Given the description of an element on the screen output the (x, y) to click on. 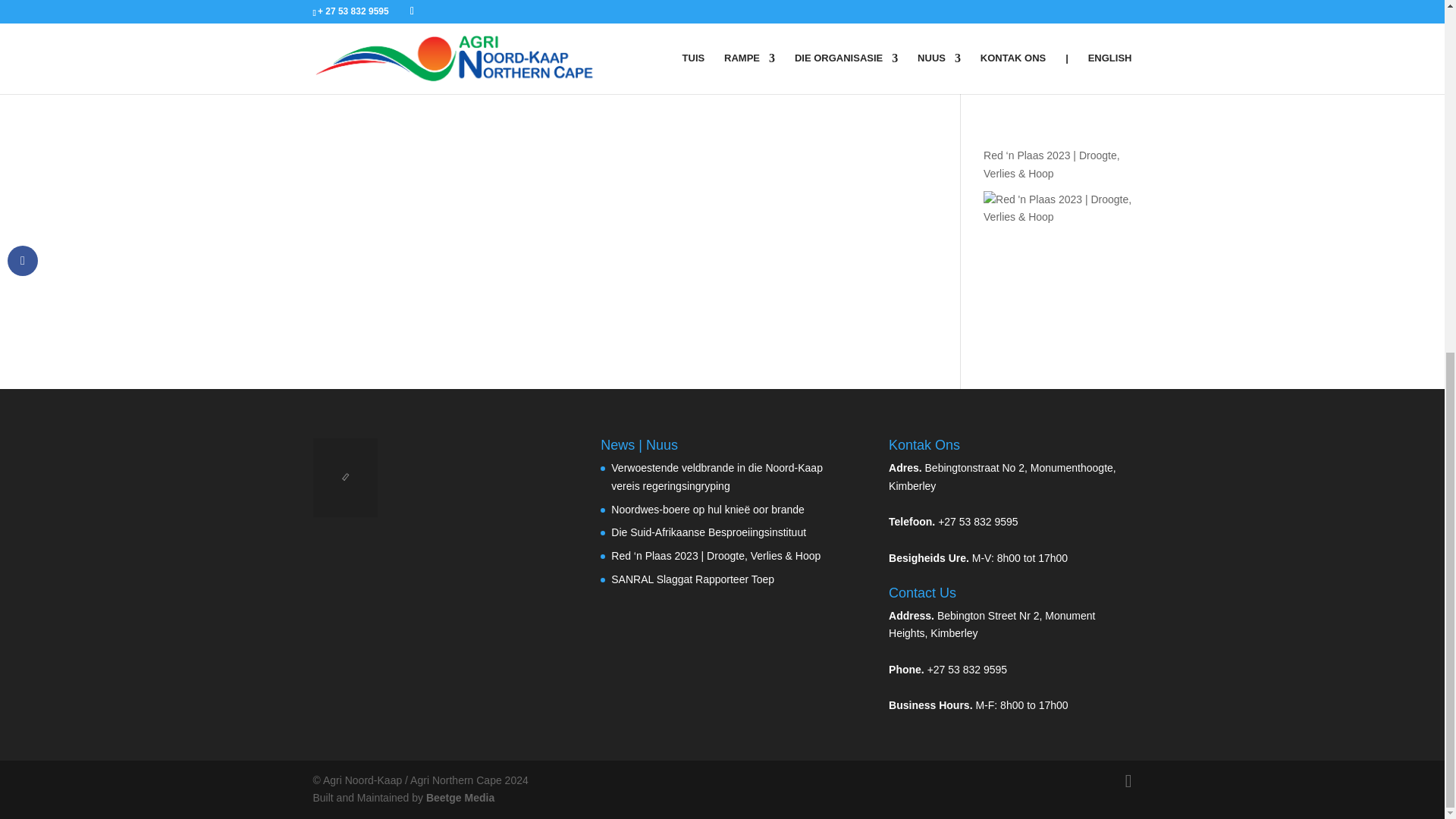
Beetge Media Website (460, 797)
Die Suid-Afrikaanse Besproeiingsinstituut (1057, 1)
Die Suid-Afrikaanse Besproeiingsinstituut (1054, 68)
